Given the description of an element on the screen output the (x, y) to click on. 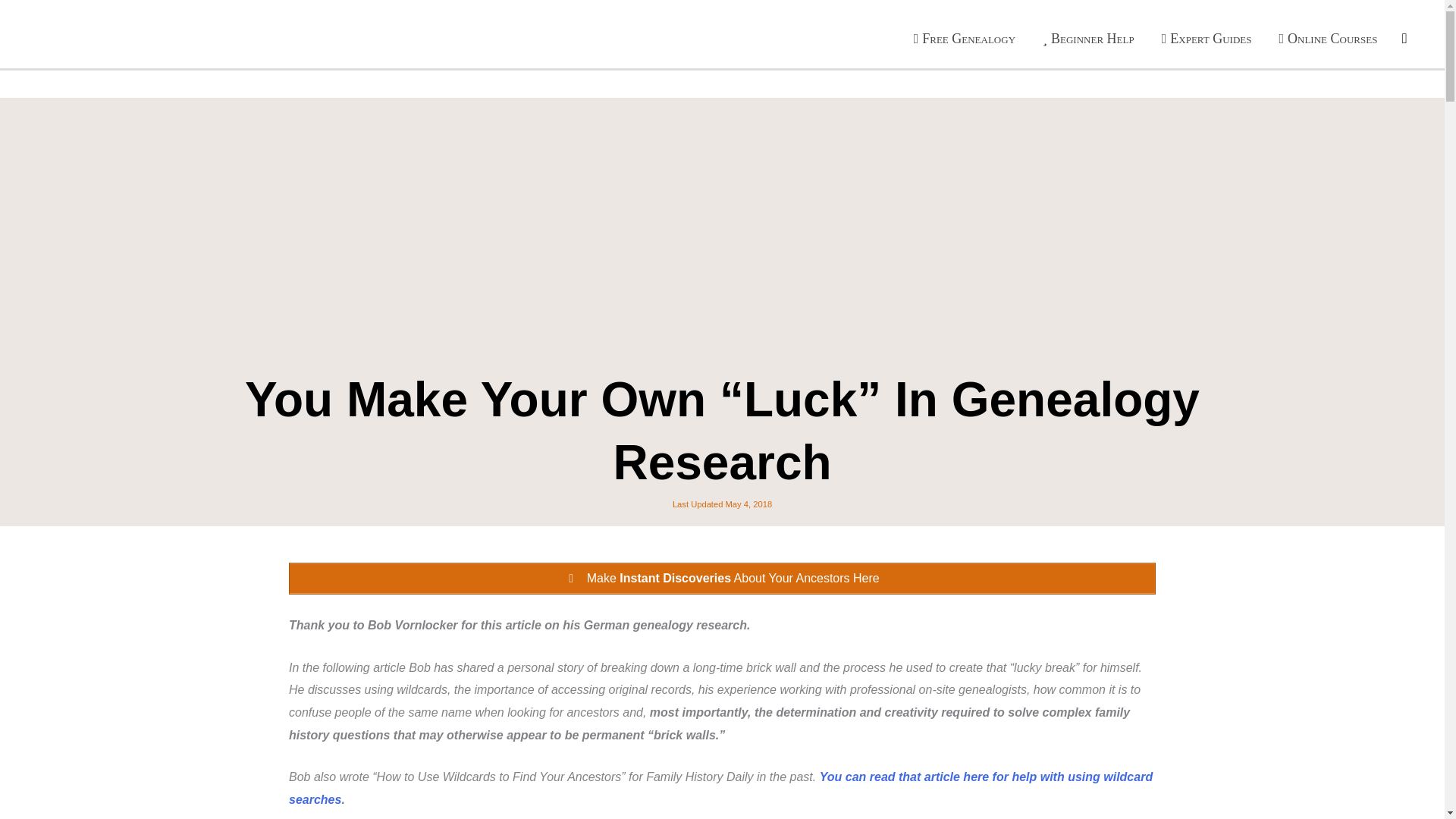
Free Genealogy (964, 38)
Make Instant Discoveries About Your Ancestors Here (722, 578)
Expert Guides (1206, 38)
Online Courses (1327, 38)
Beginner Help (1088, 38)
